Given the description of an element on the screen output the (x, y) to click on. 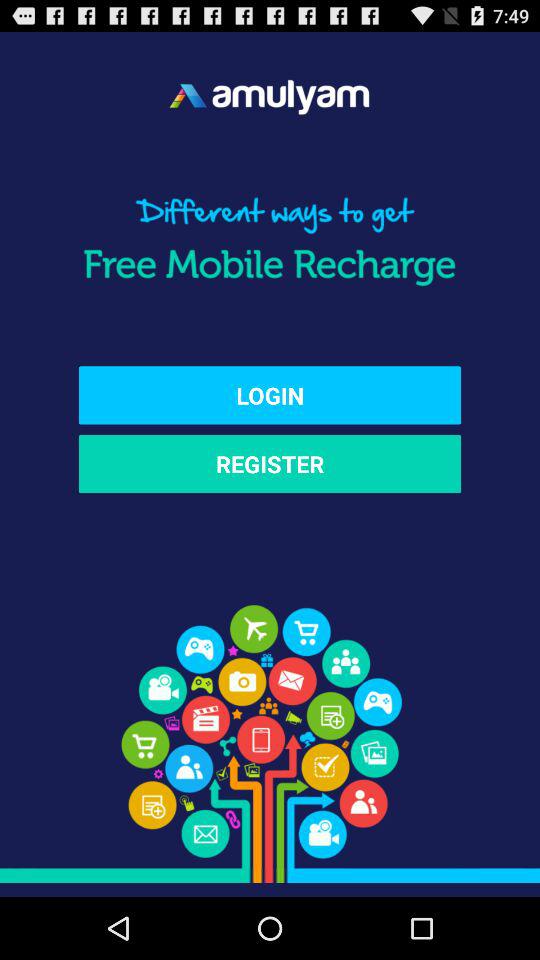
open the icon above the register (269, 395)
